Given the description of an element on the screen output the (x, y) to click on. 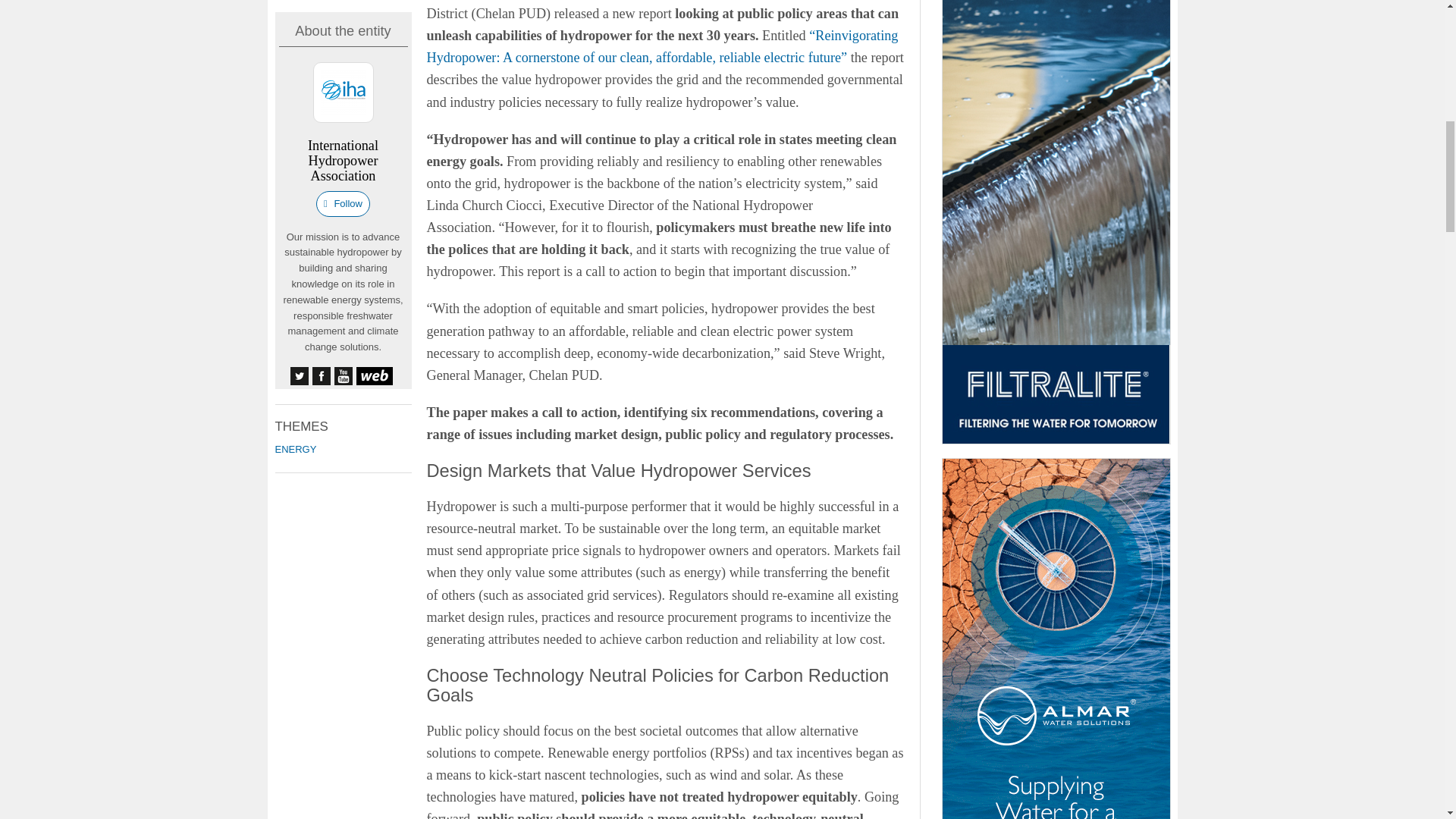
View International Hydropower Association's website (374, 375)
